Given the description of an element on the screen output the (x, y) to click on. 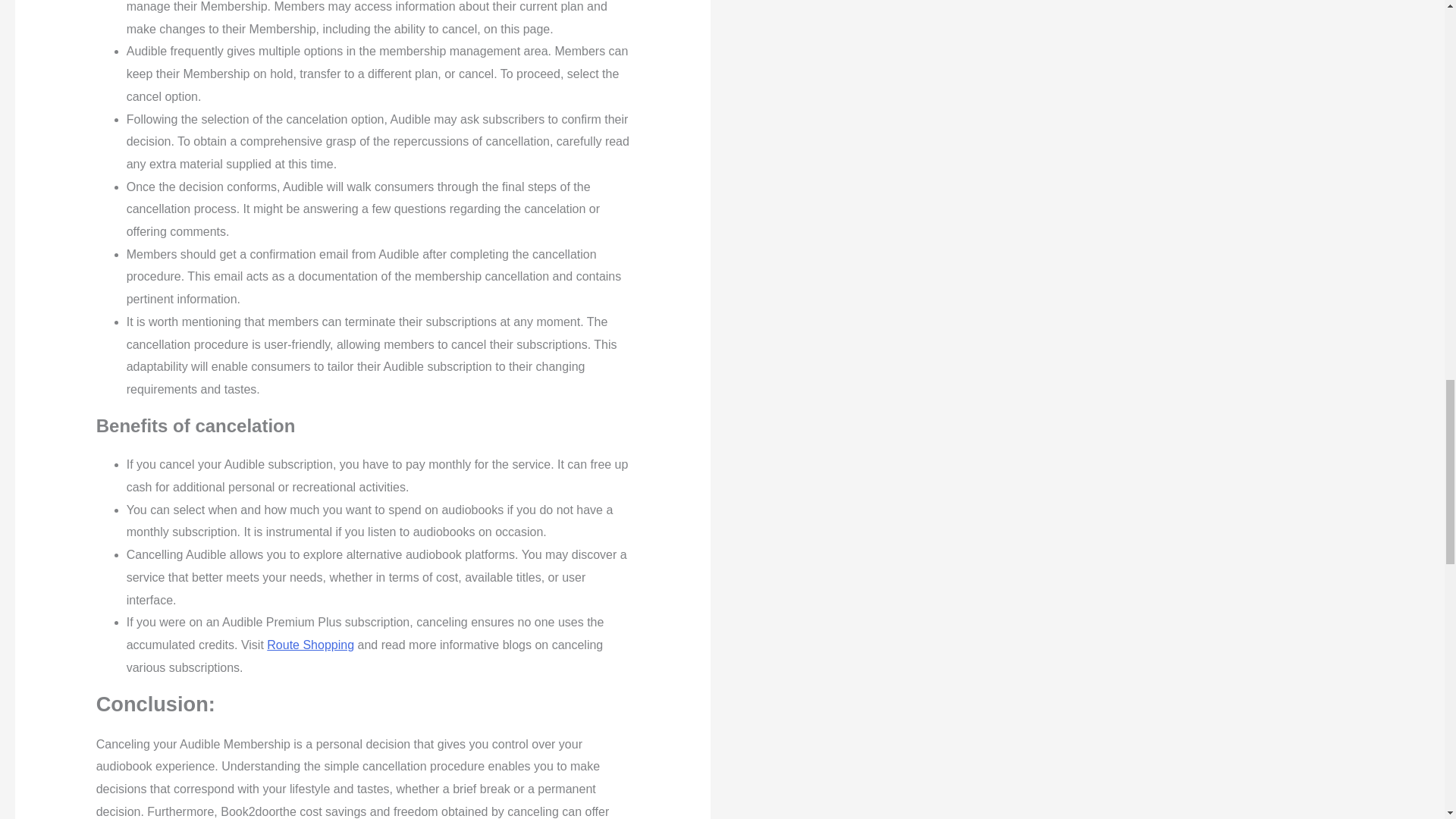
Route Shopping (309, 644)
